Given the description of an element on the screen output the (x, y) to click on. 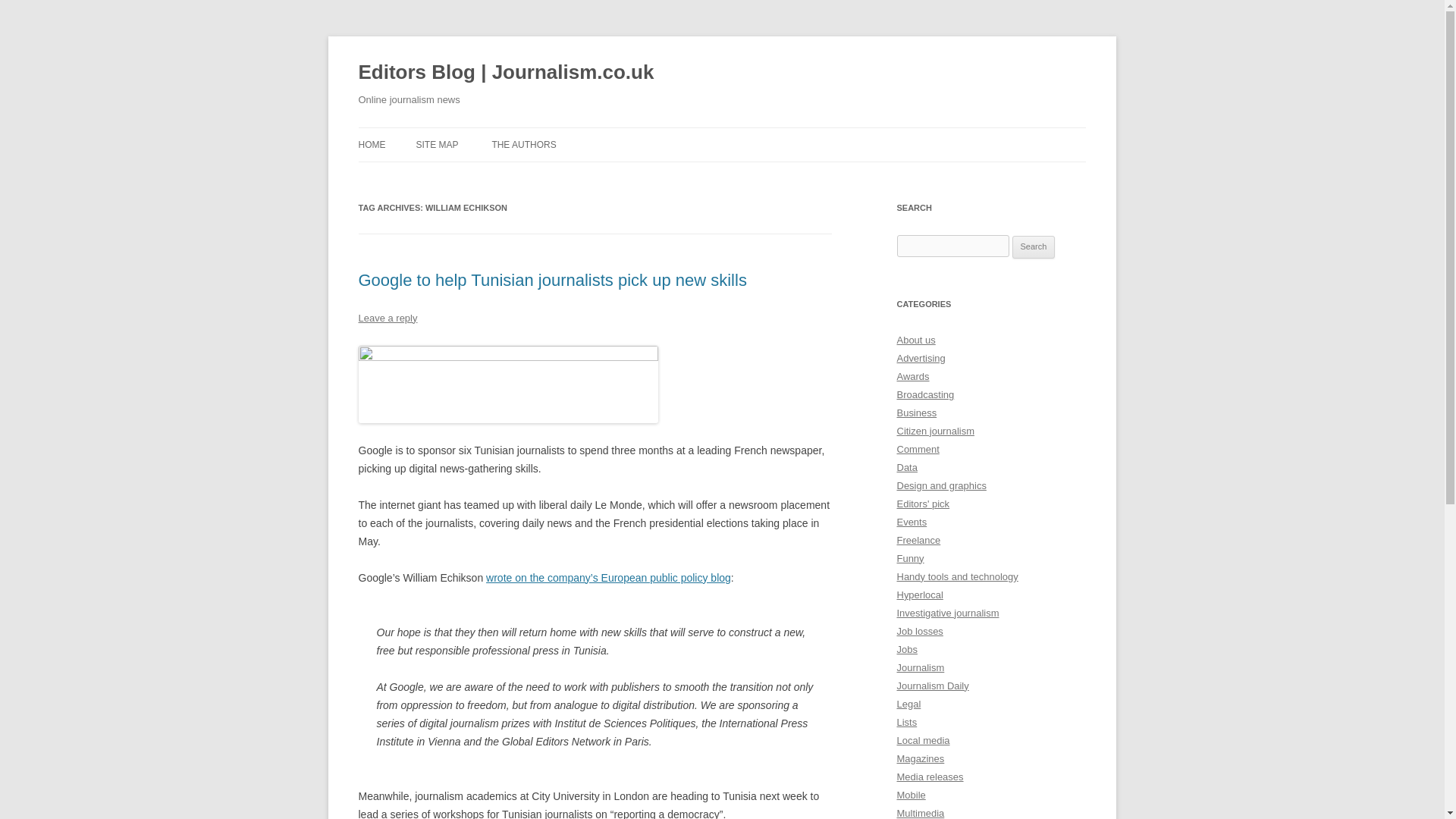
Google to help Tunisian journalists pick up new skills (551, 280)
Funny (909, 558)
THE AUTHORS (524, 144)
About us (915, 339)
HOME (371, 144)
Citizen journalism (935, 430)
Editors' pick (922, 503)
Events (911, 521)
Investigative journalism (947, 613)
Comment (917, 449)
Freelance (918, 540)
Business (916, 412)
Advertising (920, 357)
Job losses (919, 631)
